Given the description of an element on the screen output the (x, y) to click on. 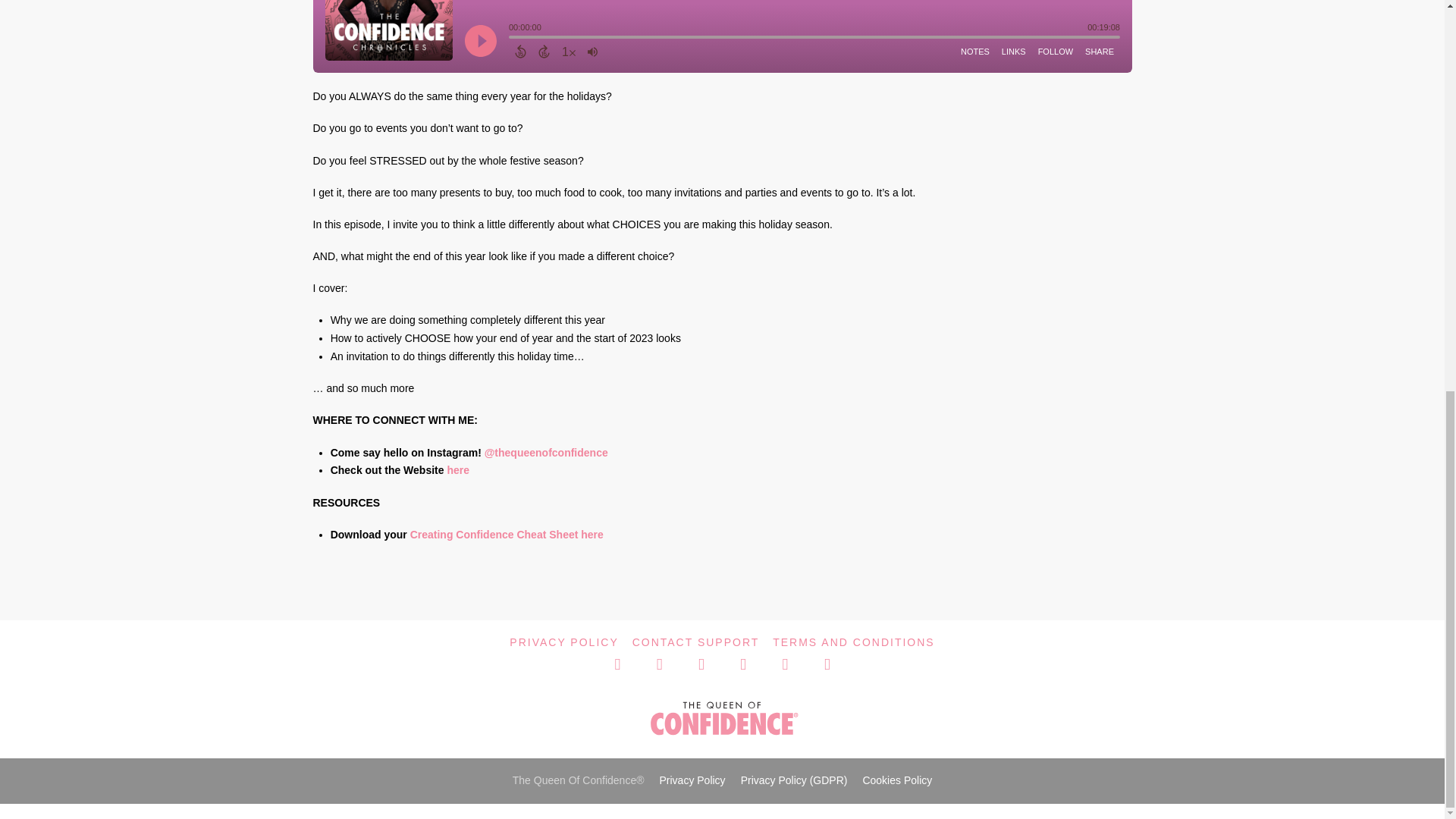
here (457, 469)
Cookies Policy (896, 779)
PRIVACY POLICY (563, 641)
CONTACT SUPPORT (695, 641)
Privacy Policy (692, 779)
Creating Confidence Cheat Sheet here (507, 534)
TERMS AND CONDITIONS (853, 641)
